Given the description of an element on the screen output the (x, y) to click on. 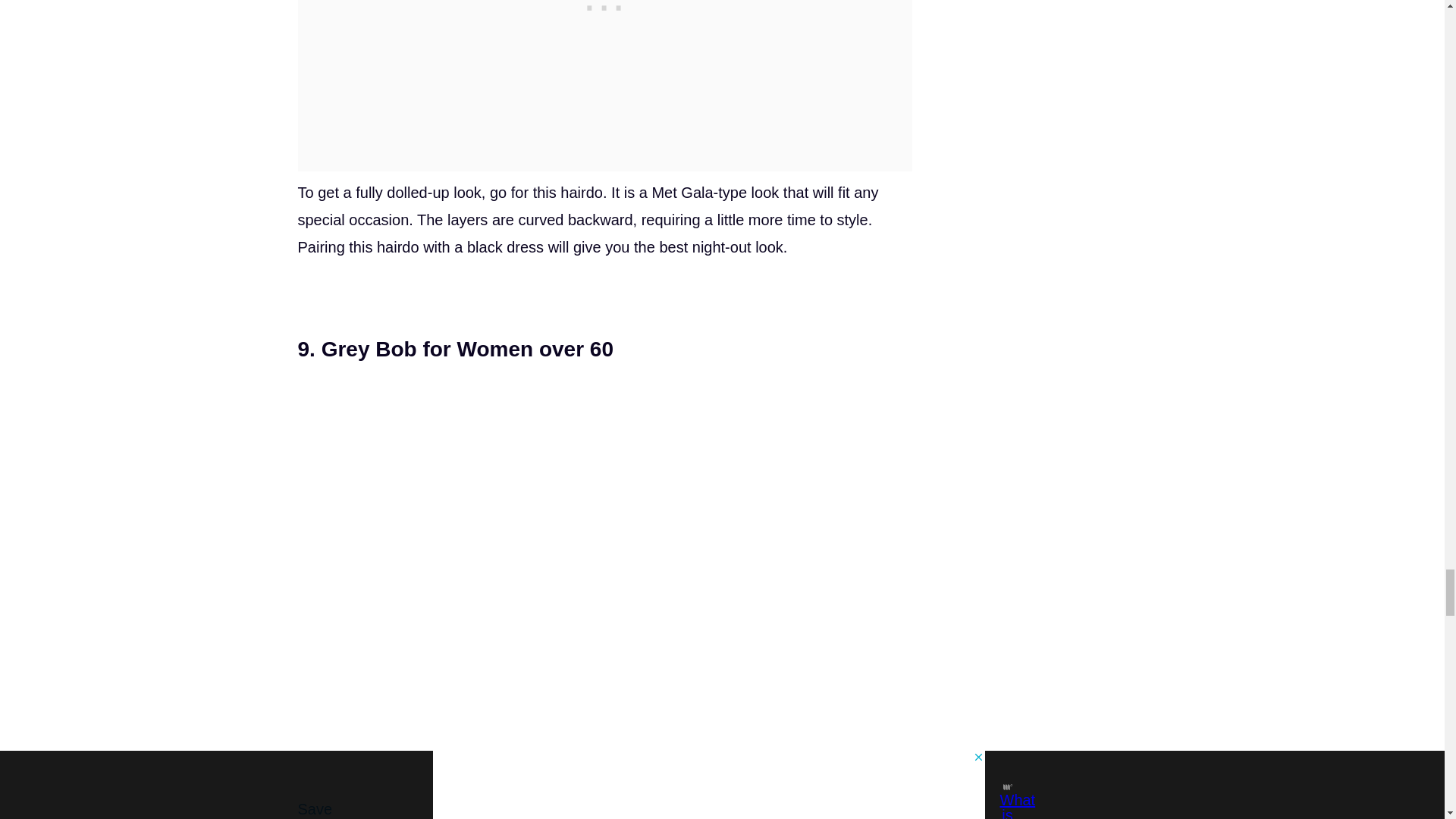
Save (314, 808)
